Given the description of an element on the screen output the (x, y) to click on. 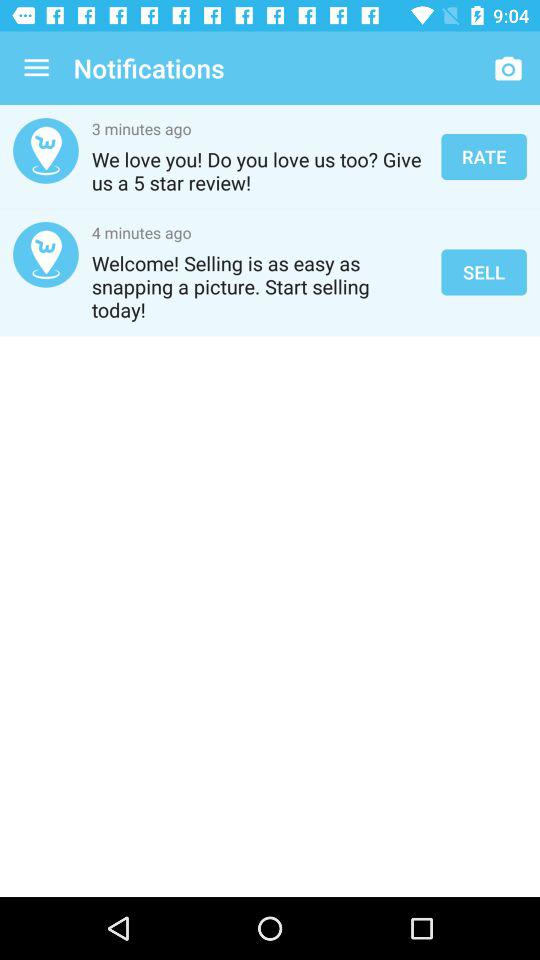
press the item at the center (270, 433)
